Given the description of an element on the screen output the (x, y) to click on. 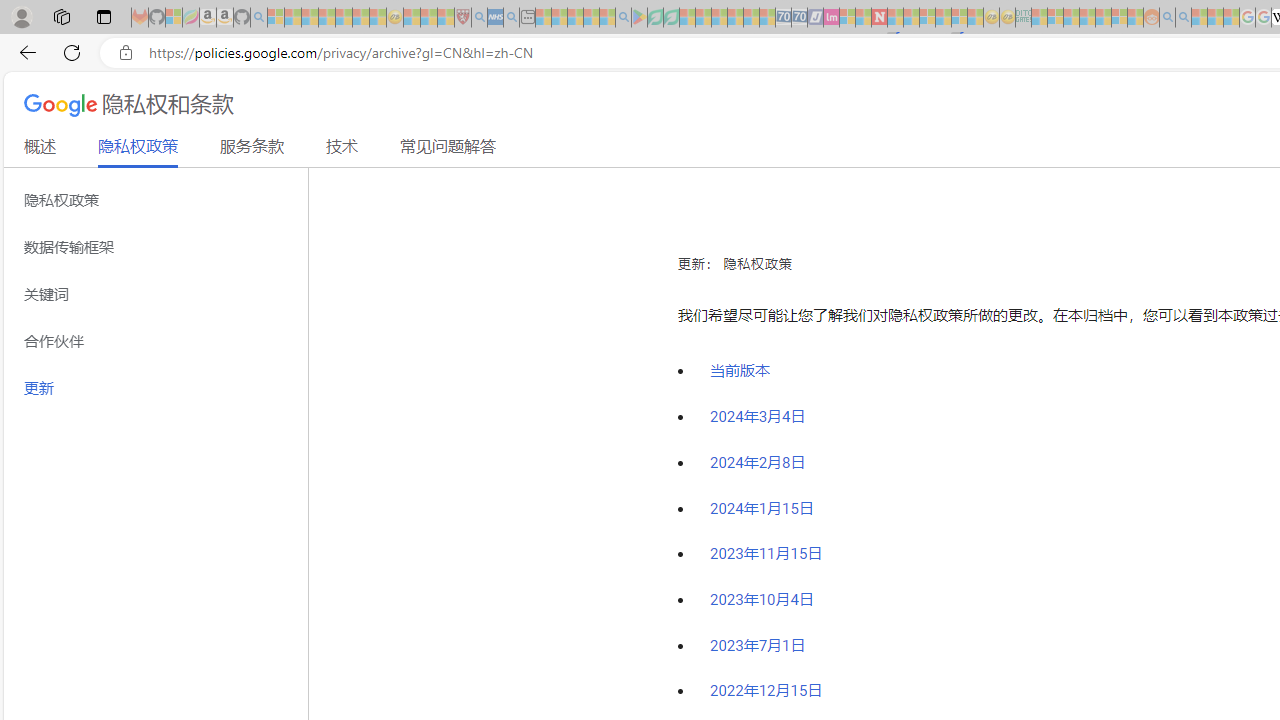
Pets - MSN - Sleeping (591, 17)
Kinda Frugal - MSN - Sleeping (1103, 17)
Jobs - lastminute.com Investor Portal - Sleeping (831, 17)
Expert Portfolios - Sleeping (1087, 17)
